Given the description of an element on the screen output the (x, y) to click on. 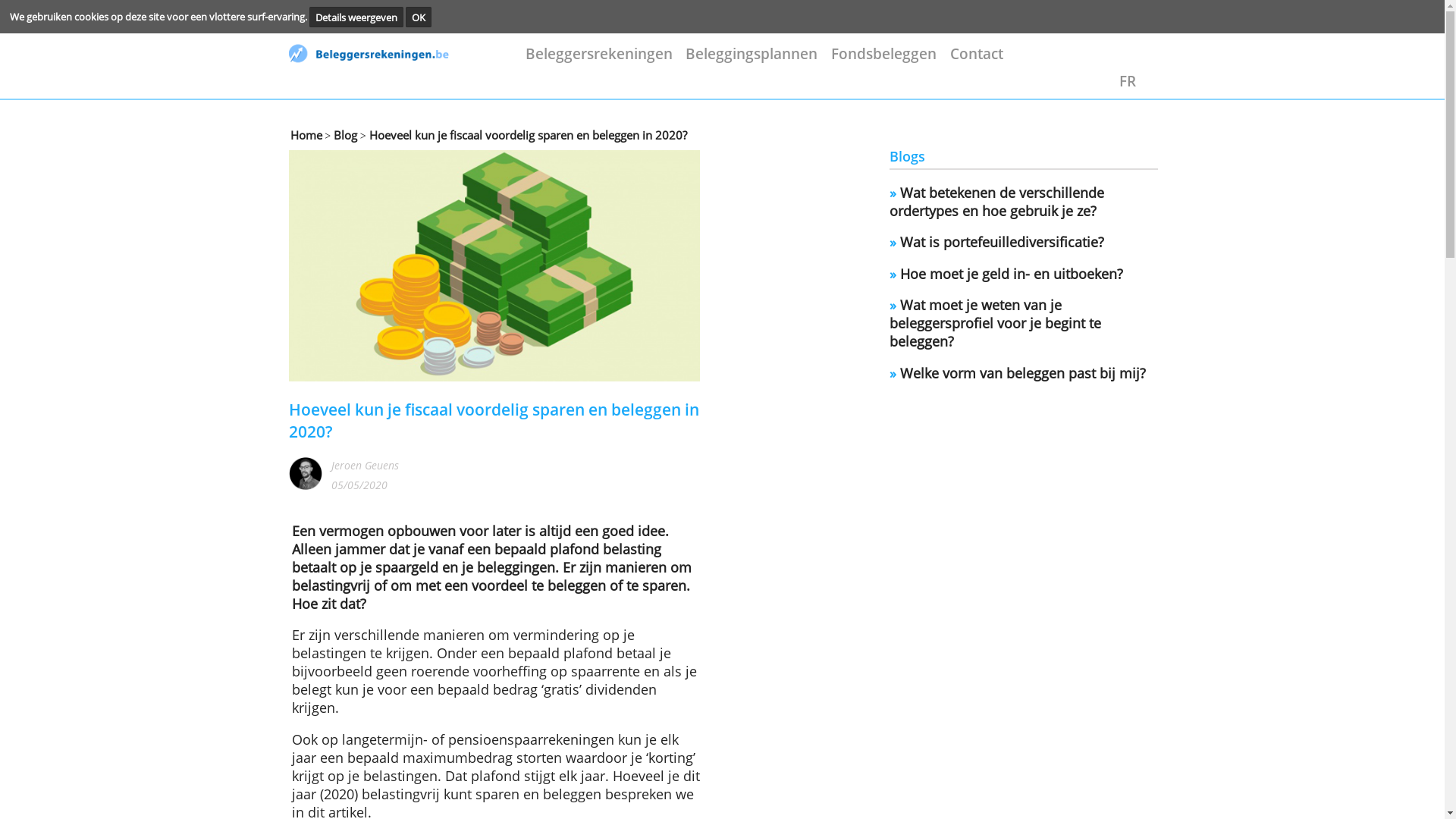
Hoeveel kun je fiscaal voordelig sparen en beleggen in 2020? Element type: text (597, 153)
Jeroen Geuens Element type: text (414, 528)
FR Element type: text (1278, 91)
OK Element type: text (475, 19)
Details weergeven Element type: text (404, 19)
Contact Element type: text (1109, 59)
Blog Element type: text (391, 153)
Fondsbeleggen Element type: text (1004, 59)
Beleggersrekeningen Element type: text (680, 59)
Beleggingsplannen Element type: text (854, 59)
Home Element type: text (347, 153)
